Given the description of an element on the screen output the (x, y) to click on. 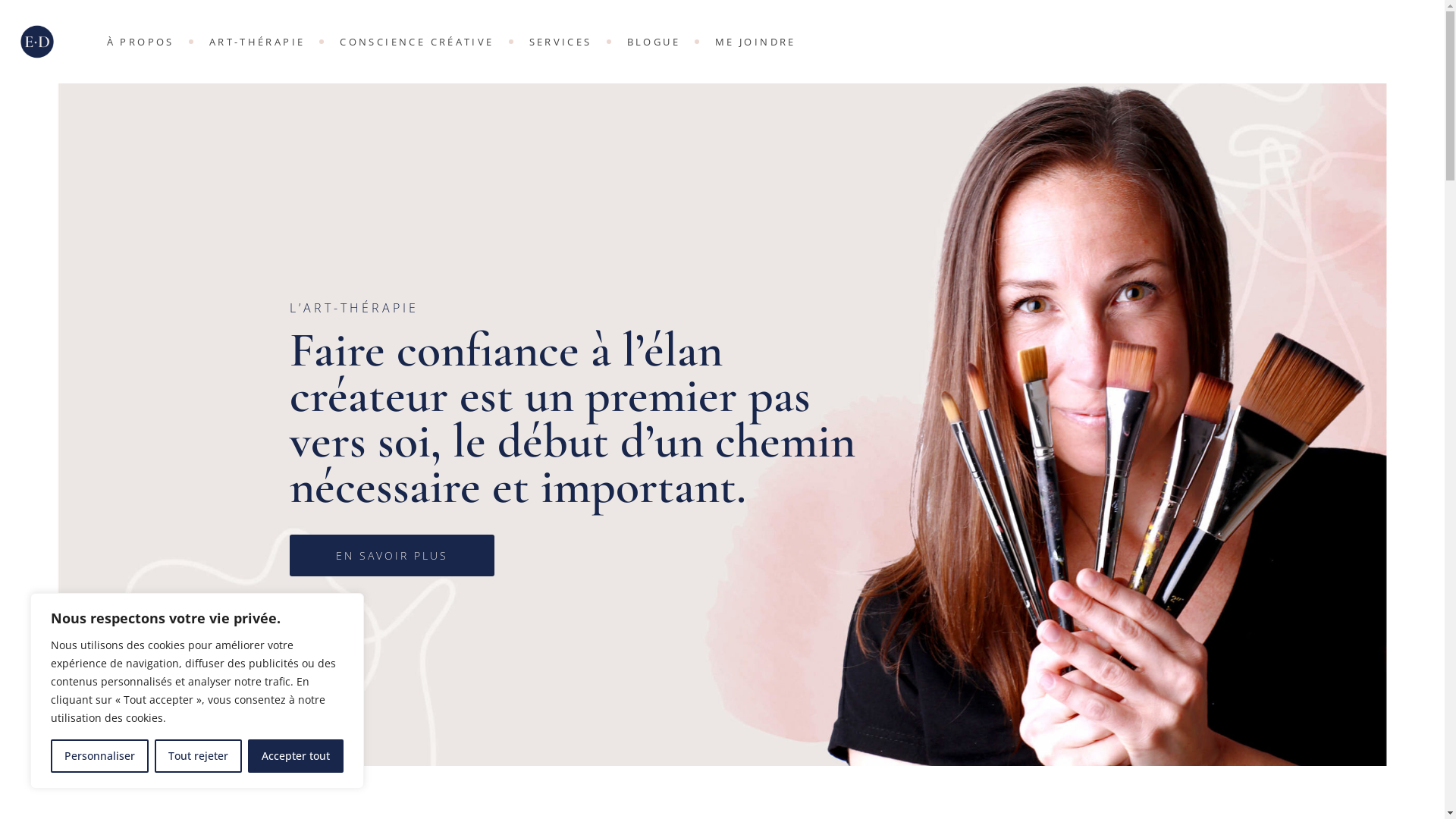
Personnaliser Element type: text (99, 755)
Accepter tout Element type: text (295, 755)
SERVICES Element type: text (560, 41)
EN SAVOIR PLUS Element type: text (391, 555)
ME JOINDRE Element type: text (755, 41)
BLOGUE Element type: text (653, 41)
Tout rejeter Element type: text (197, 755)
